Given the description of an element on the screen output the (x, y) to click on. 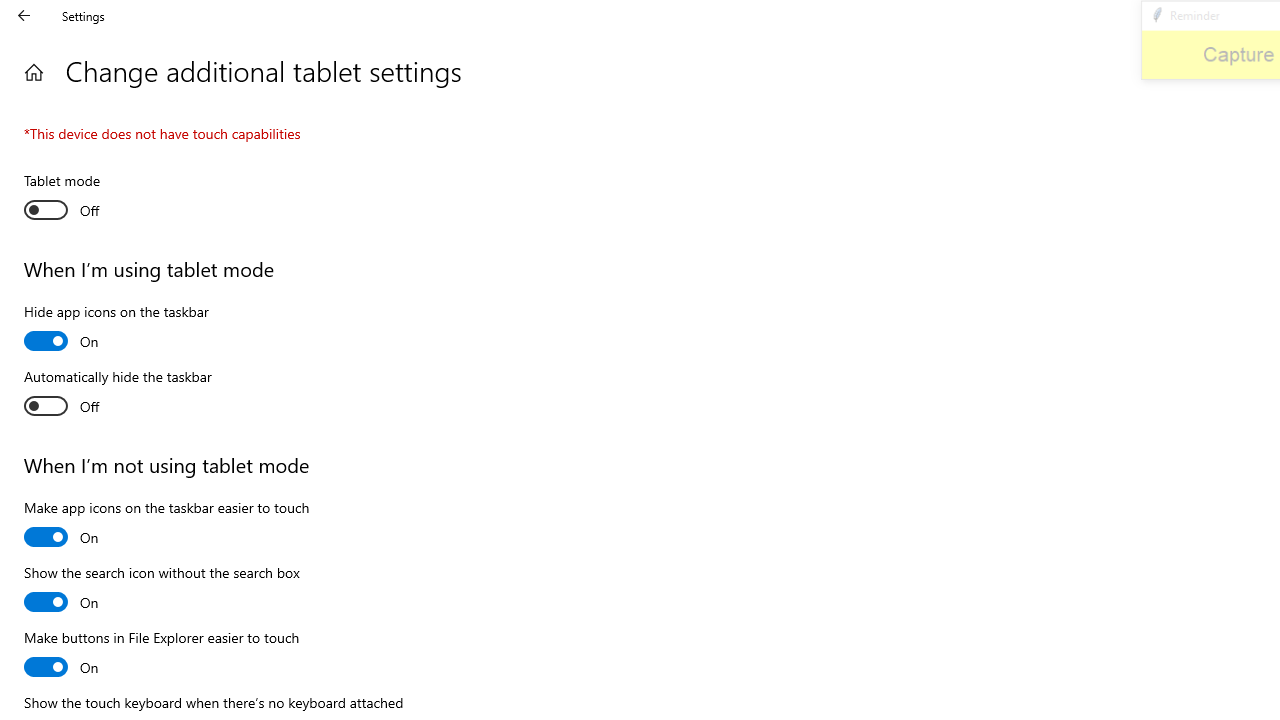
Show the search icon without the search box (161, 590)
Make buttons in File Explorer easier to touch (161, 655)
Automatically hide the taskbar (118, 394)
Tablet mode (97, 198)
Hide app icons on the taskbar (116, 329)
Back (24, 15)
Make app icons on the taskbar easier to touch (166, 525)
Home (33, 71)
